Given the description of an element on the screen output the (x, y) to click on. 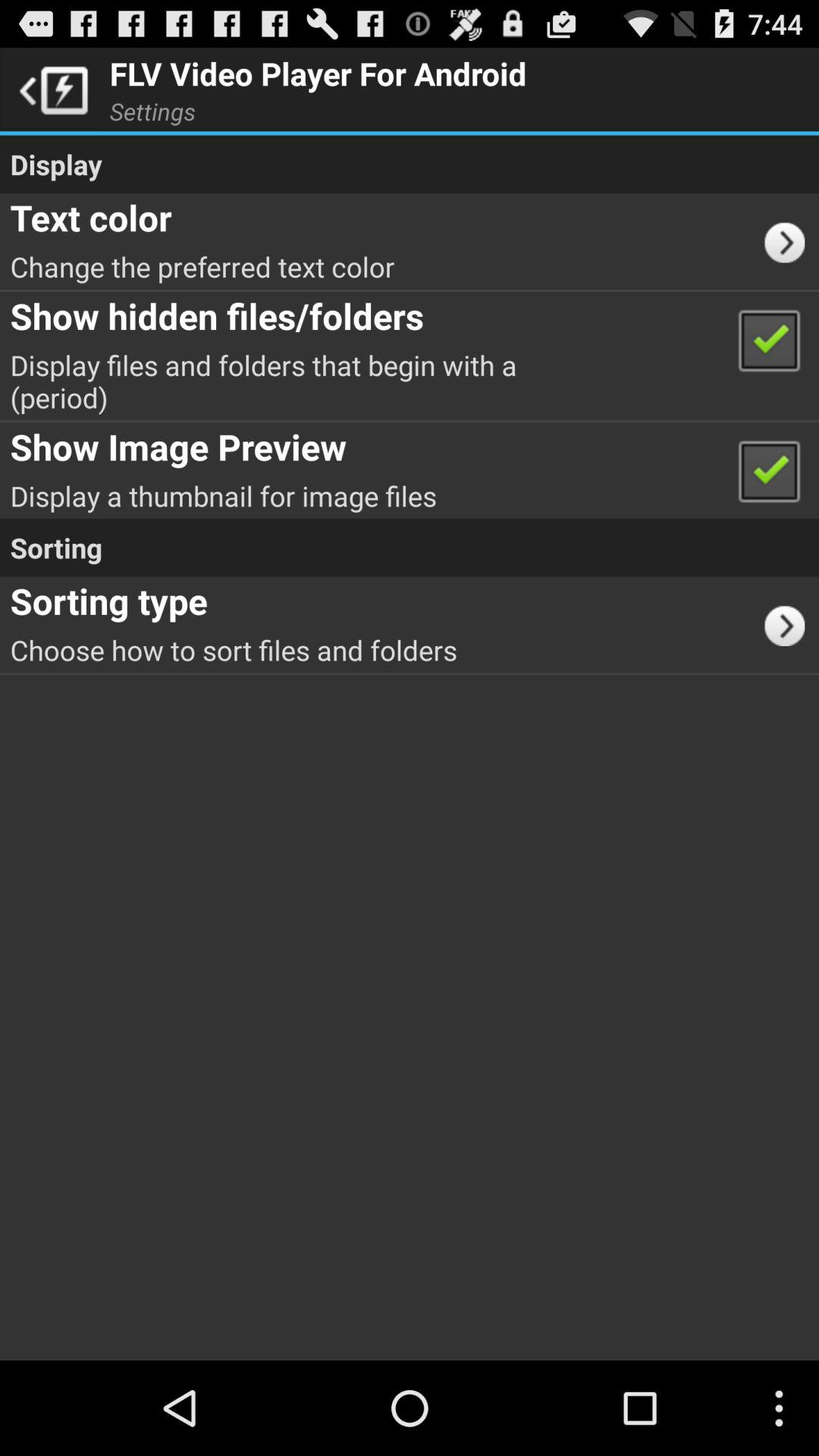
turn off item below the sorting (790, 624)
